Given the description of an element on the screen output the (x, y) to click on. 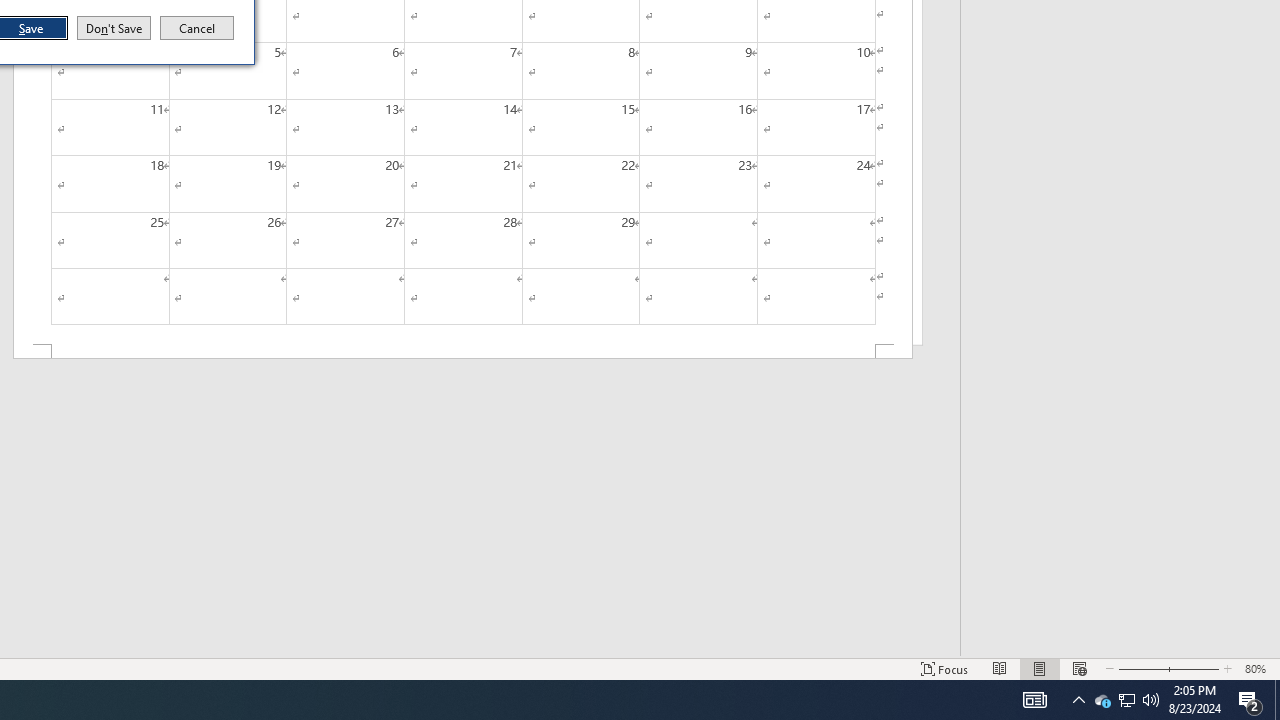
Footer -Section 2- (462, 351)
